Given the description of an element on the screen output the (x, y) to click on. 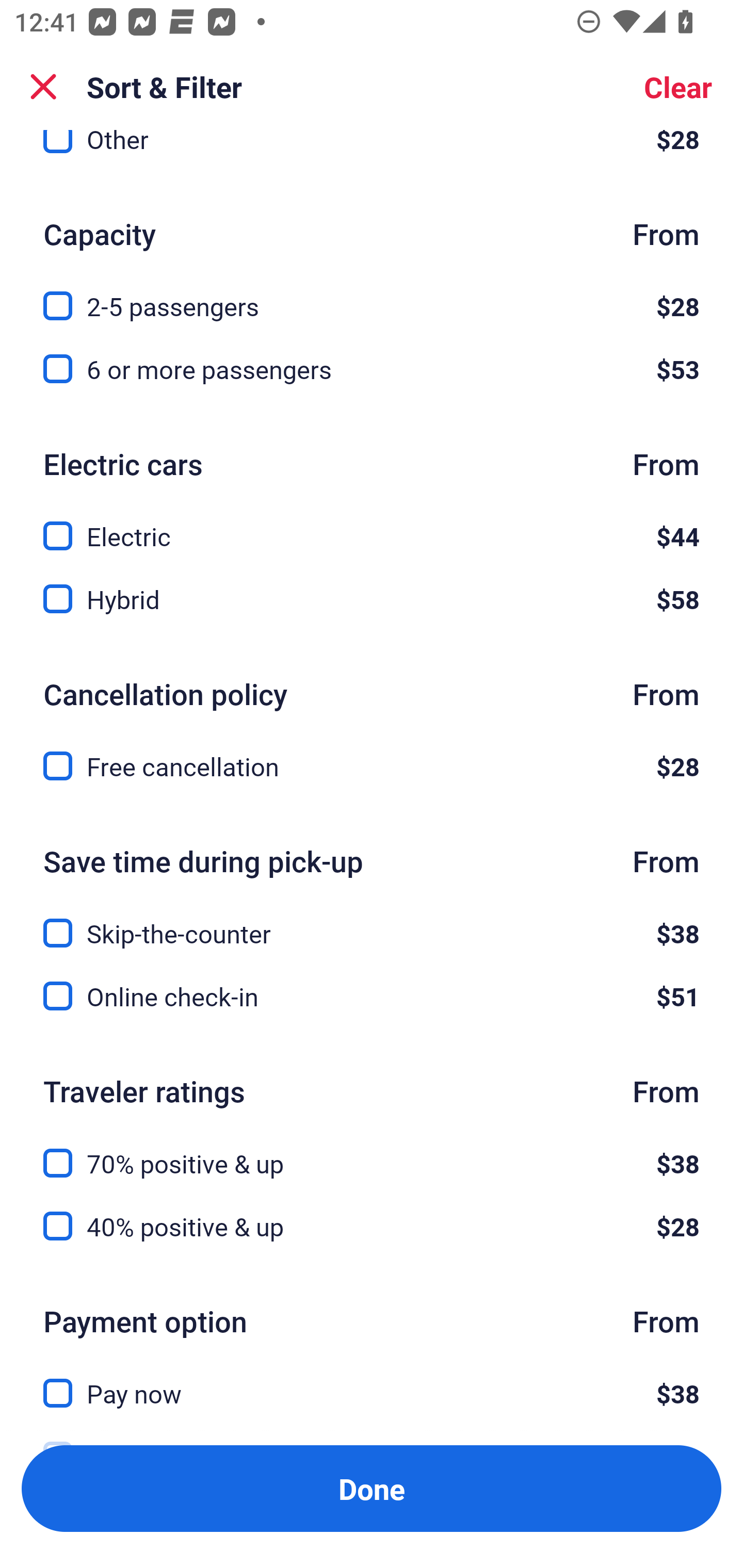
Close Sort and Filter (43, 86)
Clear (677, 86)
Other, $28 Other $28 (371, 155)
2-5 passengers, $28 2-5 passengers $28 (371, 294)
6 or more passengers, $53 6 or more passengers $53 (371, 369)
Electric, $44 Electric $44 (371, 524)
Hybrid, $58 Hybrid $58 (371, 599)
Free cancellation, $28 Free cancellation $28 (371, 765)
Skip-the-counter, $38 Skip-the-counter $38 (371, 921)
Online check-in, $51 Online check-in $51 (371, 996)
70% positive & up, $38 70% positive & up $38 (371, 1151)
40% positive & up, $28 40% positive & up $28 (371, 1226)
Pay now, $38 Pay now $38 (371, 1381)
Apply and close Sort and Filter Done (371, 1488)
